Given the description of an element on the screen output the (x, y) to click on. 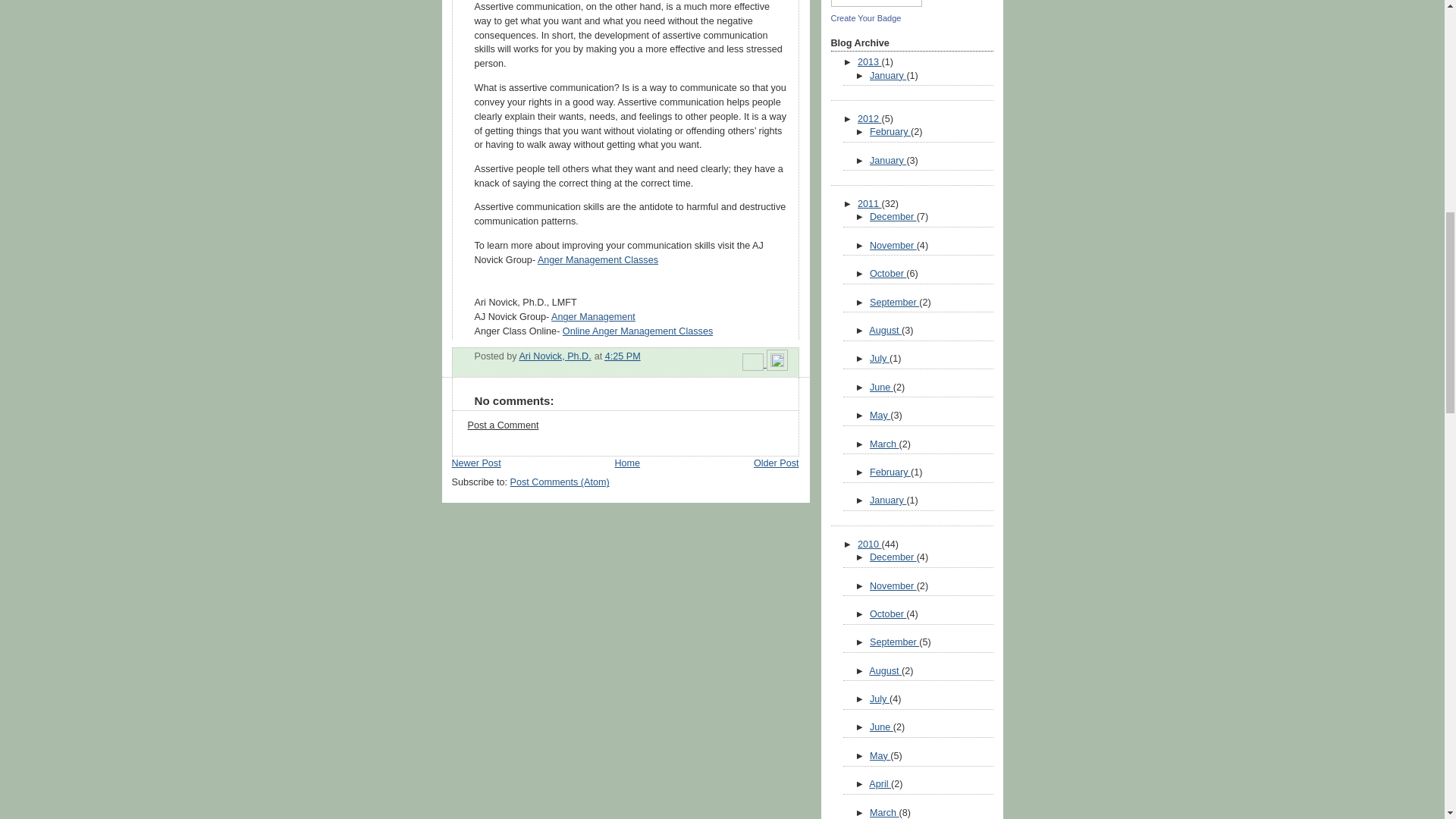
November (893, 245)
Aj Novick (876, 4)
Ari Novick, Ph.D. (554, 356)
Newer Post (475, 462)
2012 (869, 118)
January (887, 160)
October (887, 273)
permanent link (622, 356)
Make your own badge! (866, 17)
Online Anger Management Classes (637, 330)
2011 (869, 204)
February (890, 131)
Post a Comment (502, 425)
Newer Post (475, 462)
Older Post (776, 462)
